Given the description of an element on the screen output the (x, y) to click on. 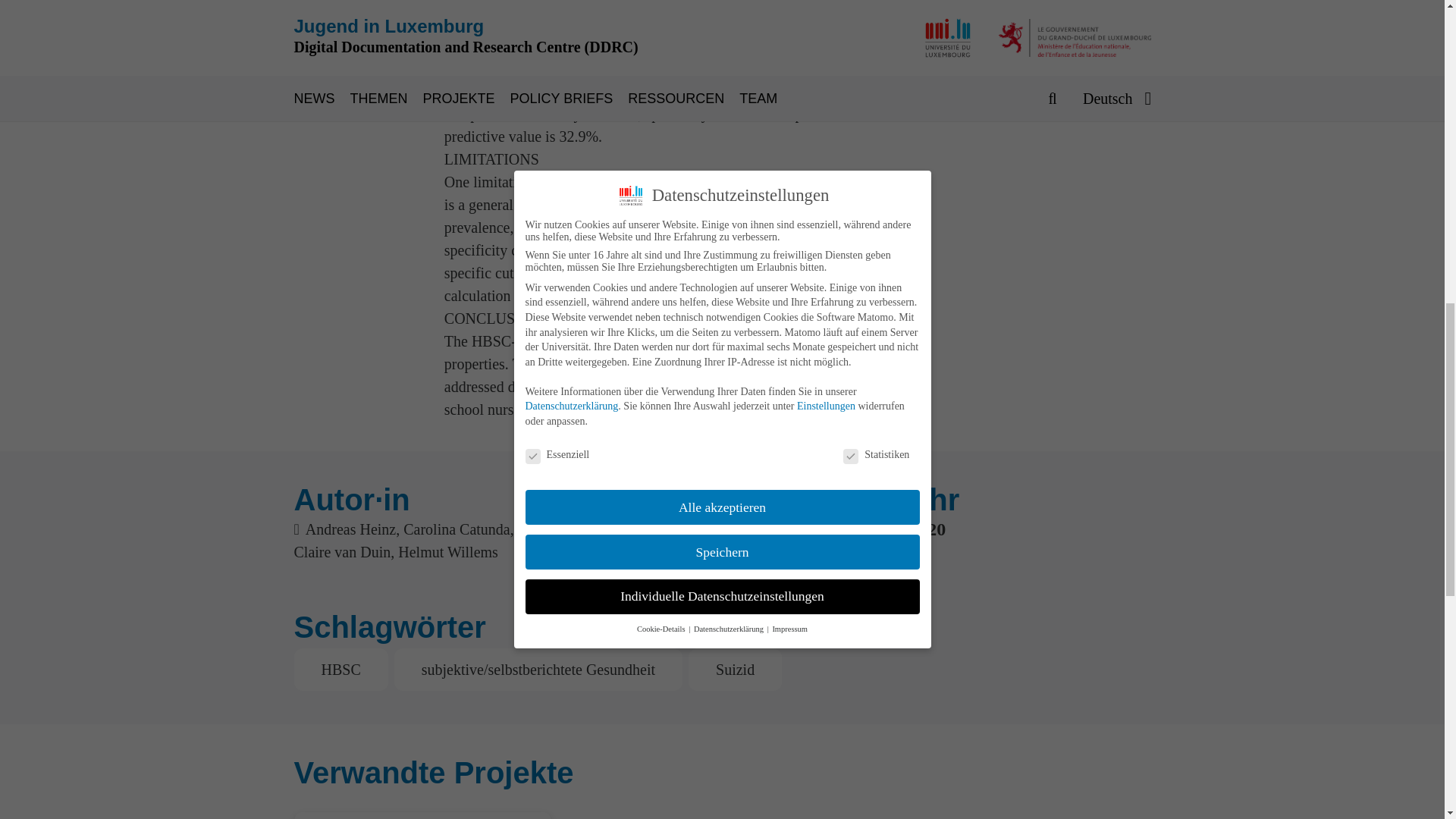
Claire van Duin (342, 551)
Helmut Willems (447, 551)
Carolina Catunda (457, 528)
Andreas Heinz (350, 528)
2020 (926, 528)
